Given the description of an element on the screen output the (x, y) to click on. 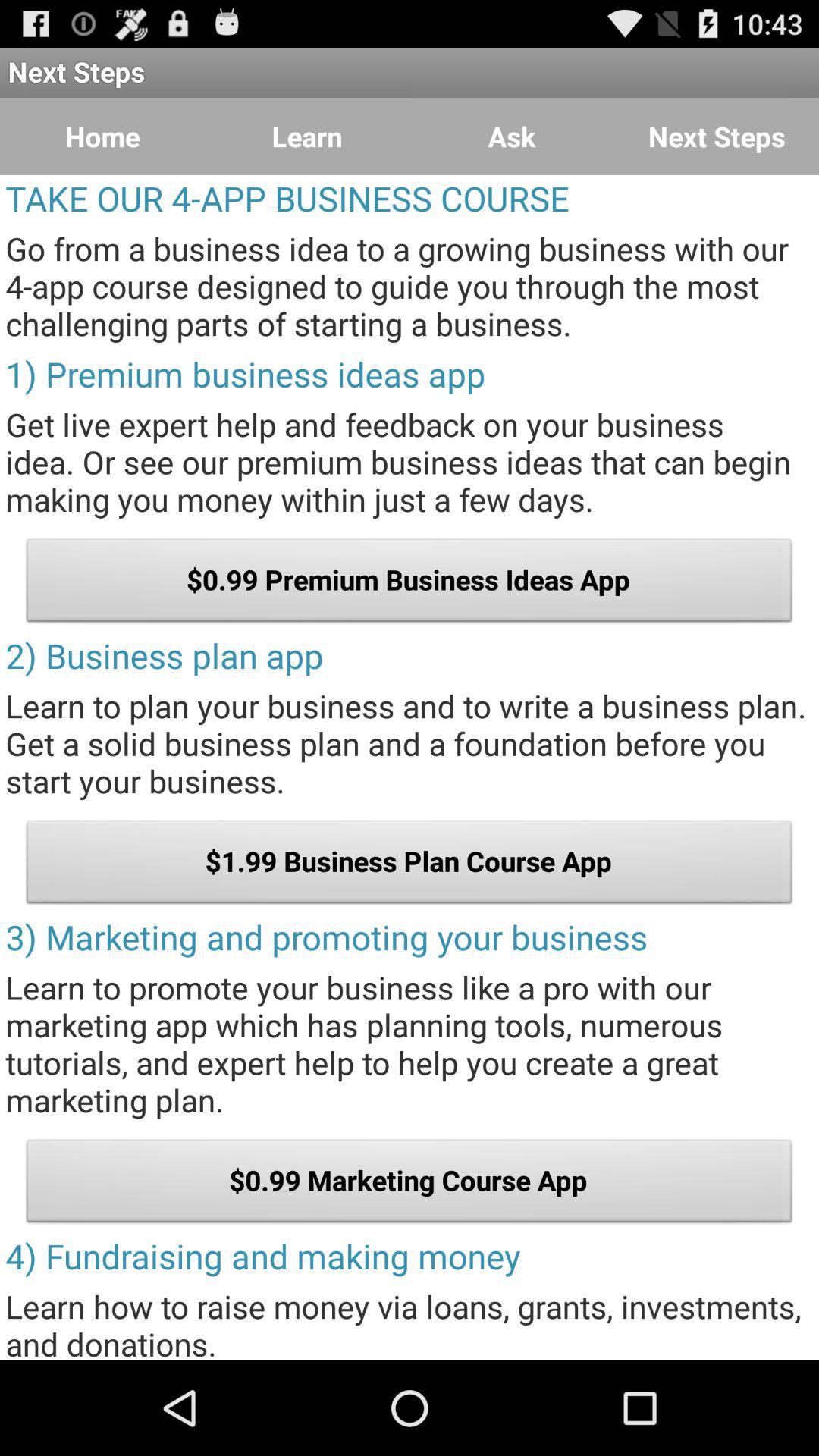
flip to the ask (511, 136)
